Given the description of an element on the screen output the (x, y) to click on. 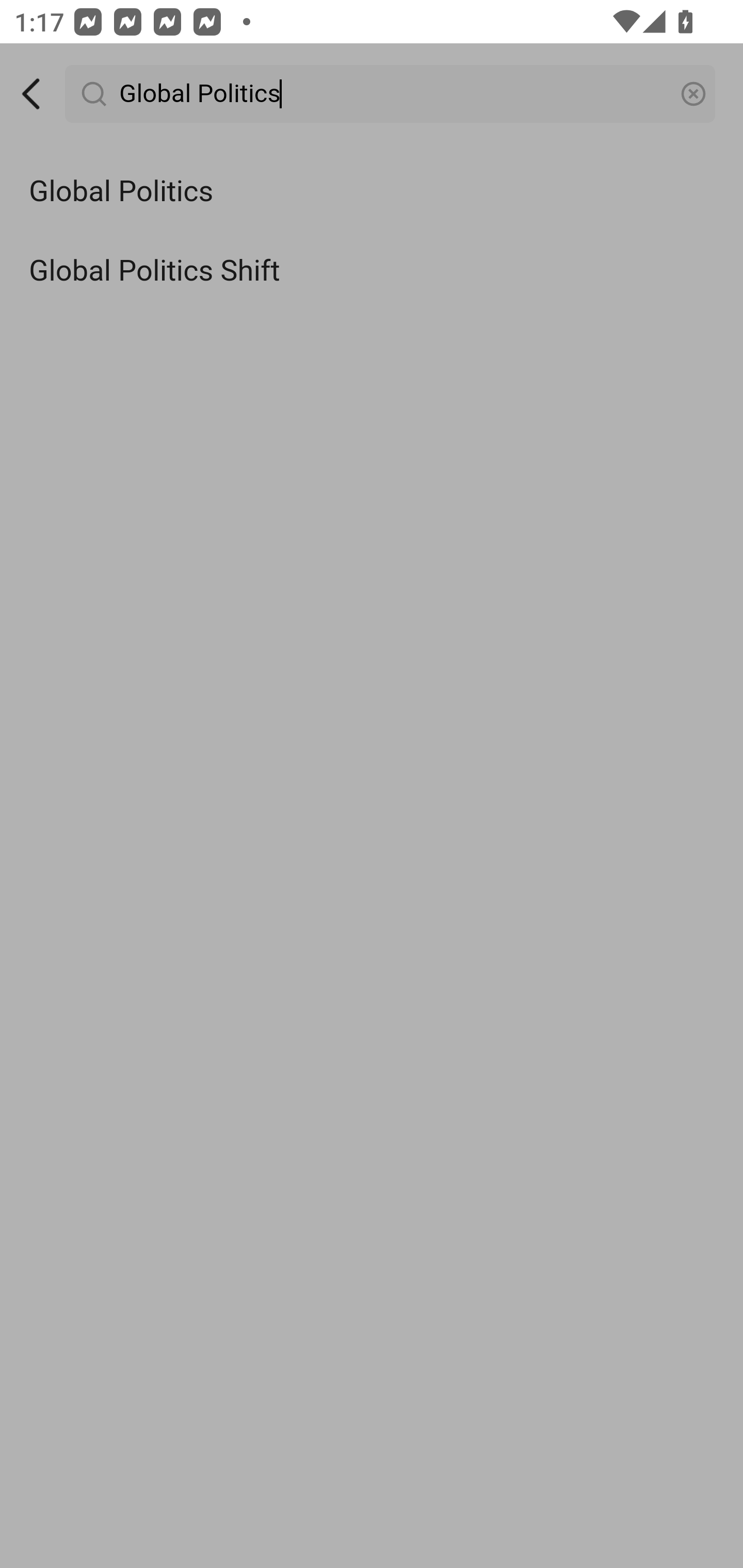
Global Politics (390, 93)
Global Politics (371, 192)
Global Politics Shift (371, 270)
